Given the description of an element on the screen output the (x, y) to click on. 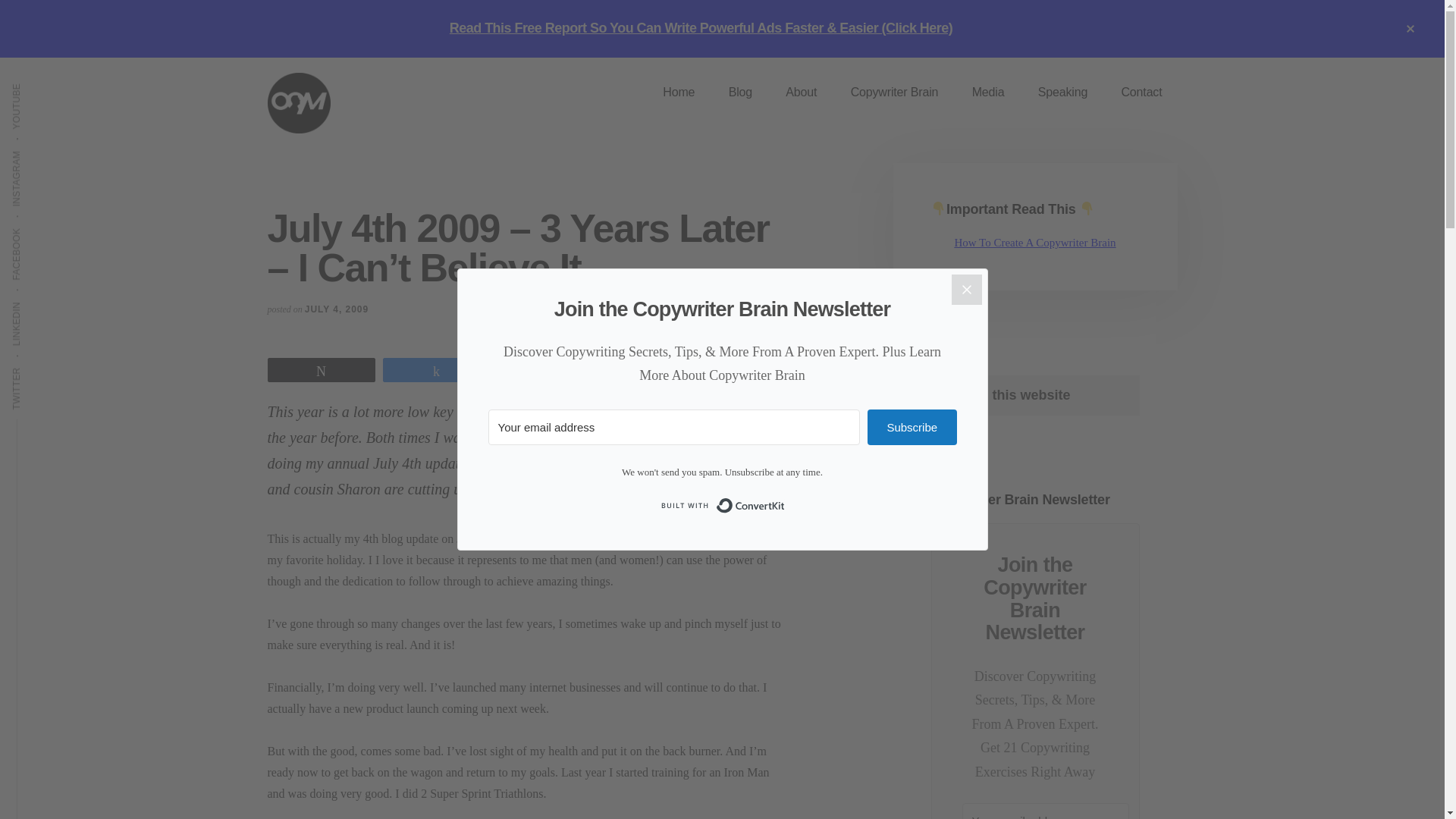
About (800, 92)
INSTAGRAM (45, 149)
LINKEDIN (39, 300)
Blog (740, 92)
TWITTER (38, 366)
Media (988, 92)
FACEBOOK (44, 227)
YOUTUBE (41, 82)
Contact (1140, 92)
Home (678, 92)
Speaking (1062, 92)
Copywriter Brain (894, 92)
